Given the description of an element on the screen output the (x, y) to click on. 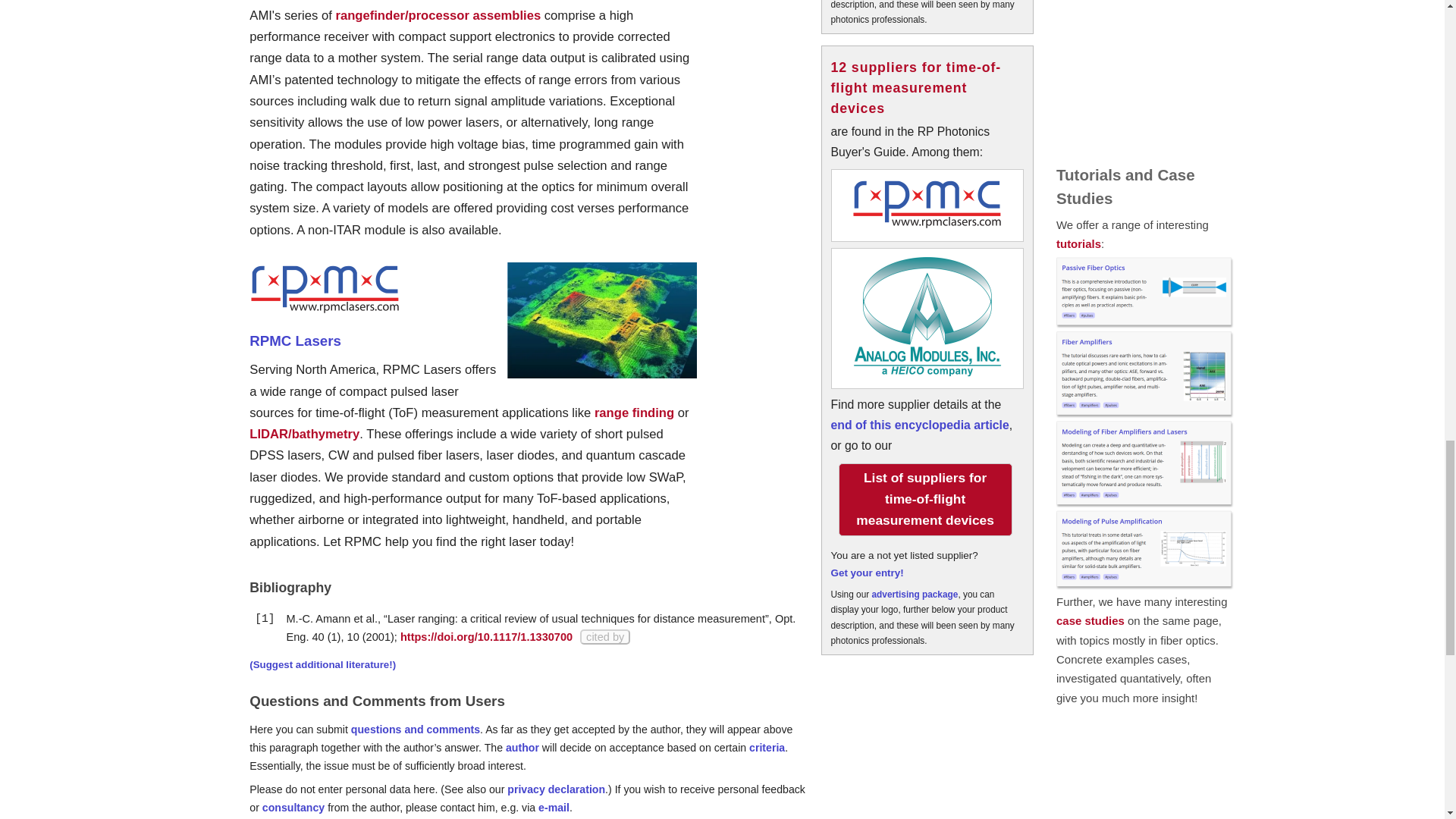
12 suppliers for time-of-flight measurement devices (916, 87)
